Given the description of an element on the screen output the (x, y) to click on. 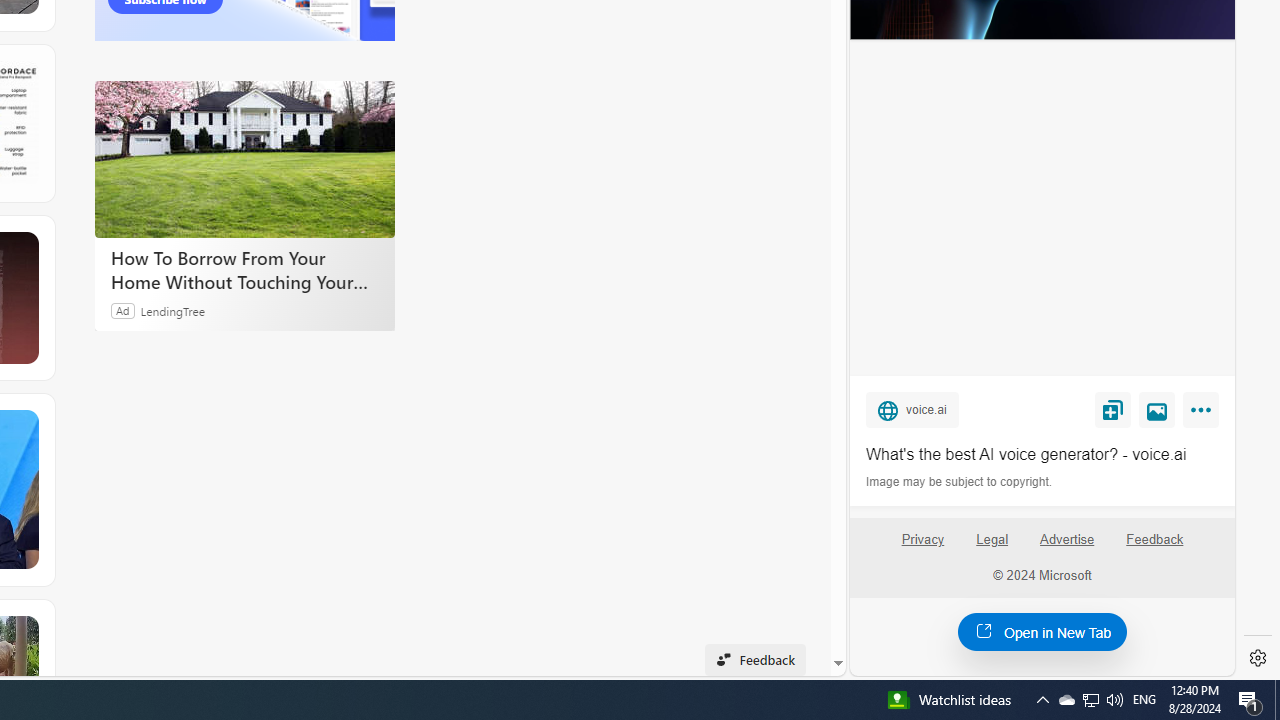
LendingTree (172, 309)
Privacy (922, 539)
Save (1112, 409)
View image (1157, 409)
See more (24, 629)
What's the best AI voice generator? - voice.ai (1042, 454)
Feedback (1155, 539)
Image may be subject to copyright. (959, 481)
More (1204, 413)
voice.ai (912, 409)
How To Borrow From Your Home Without Touching Your Mortgage (244, 159)
Legal (992, 547)
Open in New Tab (1042, 631)
Feedback (1154, 547)
